Given the description of an element on the screen output the (x, y) to click on. 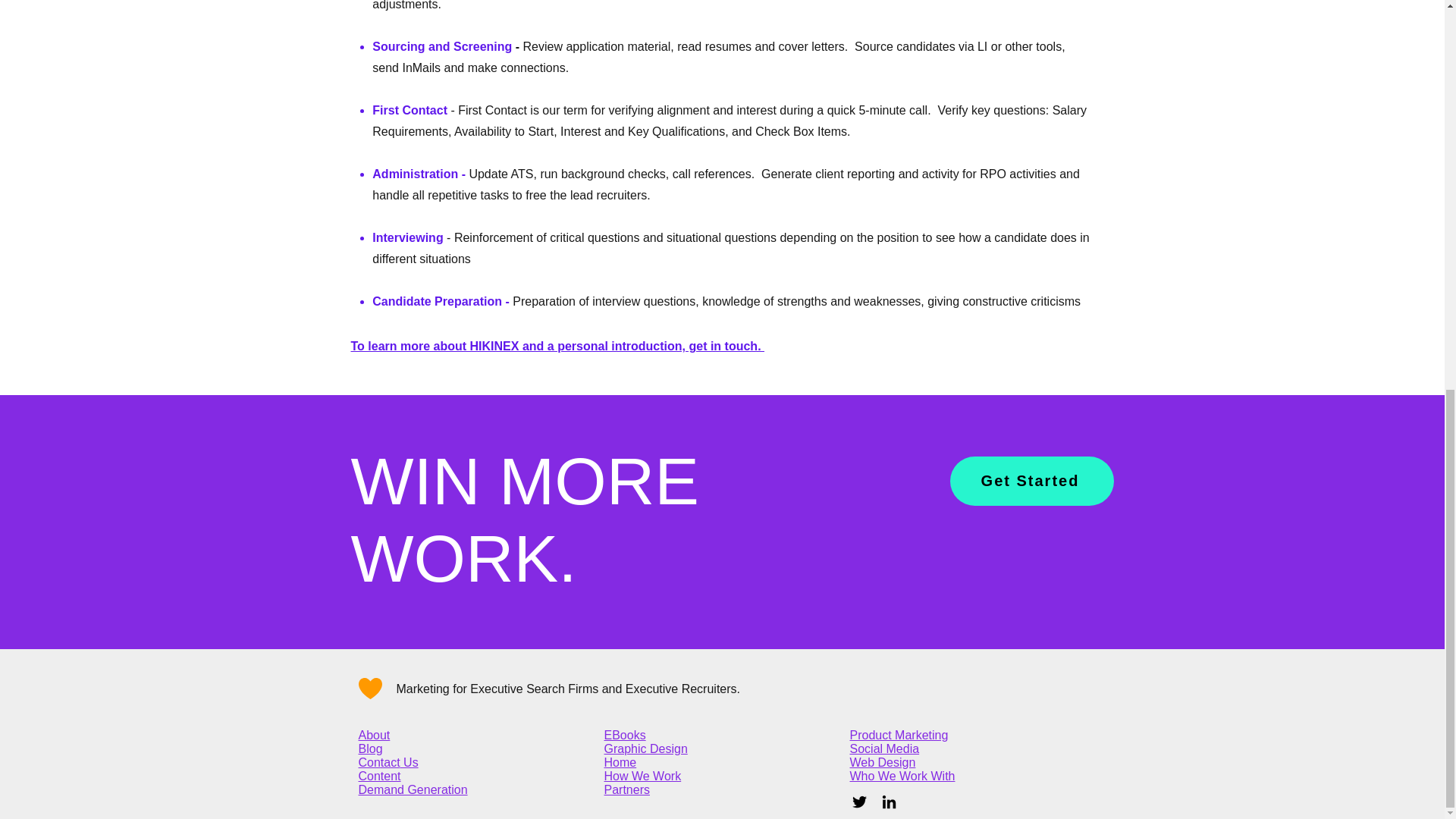
Get Started (1031, 481)
Who We Work With (901, 775)
Home (620, 762)
Graphic Design (645, 748)
Product Marketing (897, 735)
Blog (369, 748)
How We Work (642, 775)
Partners (626, 789)
Social Media (883, 748)
About (374, 735)
